Given the description of an element on the screen output the (x, y) to click on. 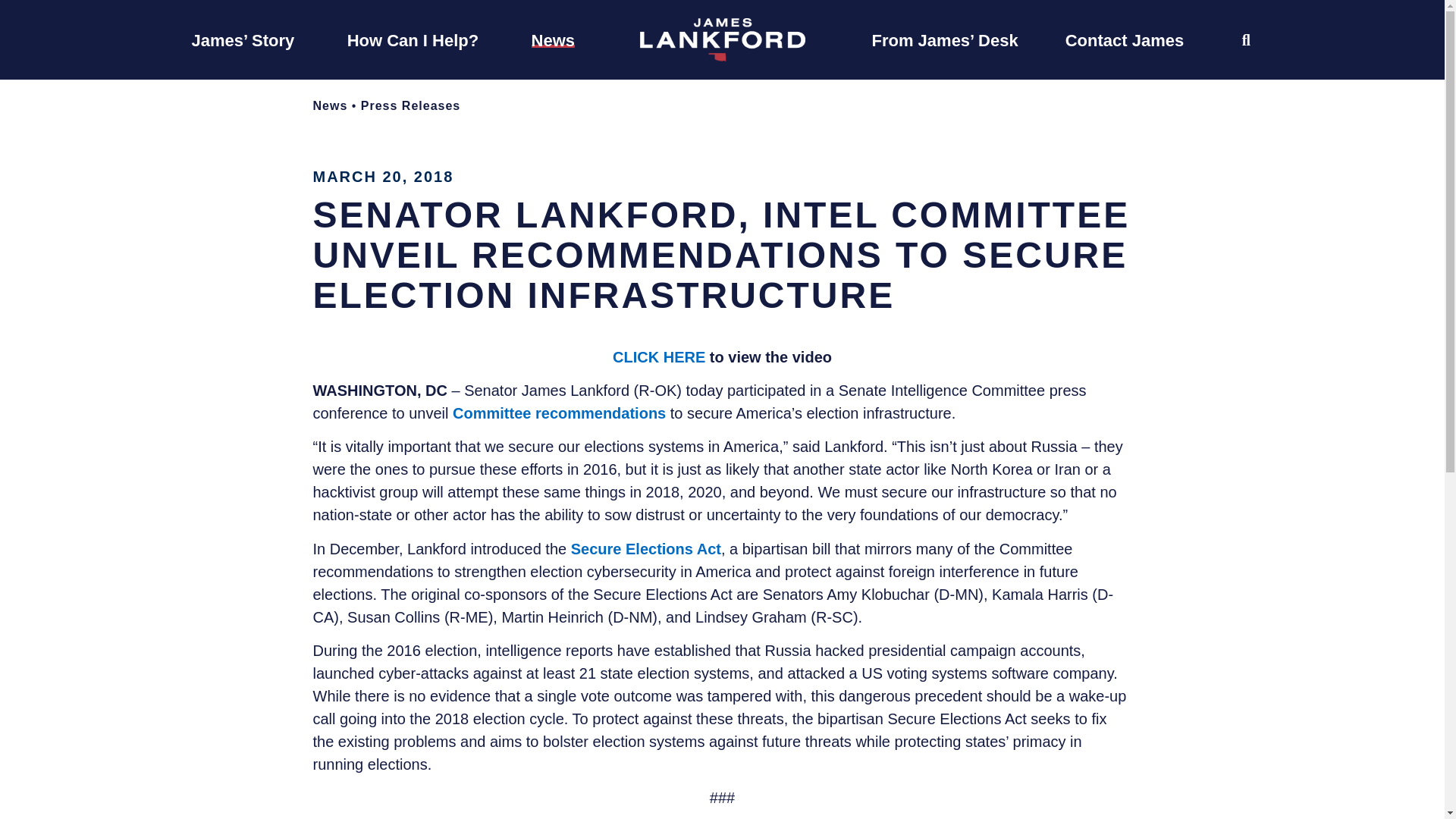
OPEN SEARCH (1246, 38)
How Can I Help? (413, 38)
News (553, 38)
Contact James (1125, 38)
